Given the description of an element on the screen output the (x, y) to click on. 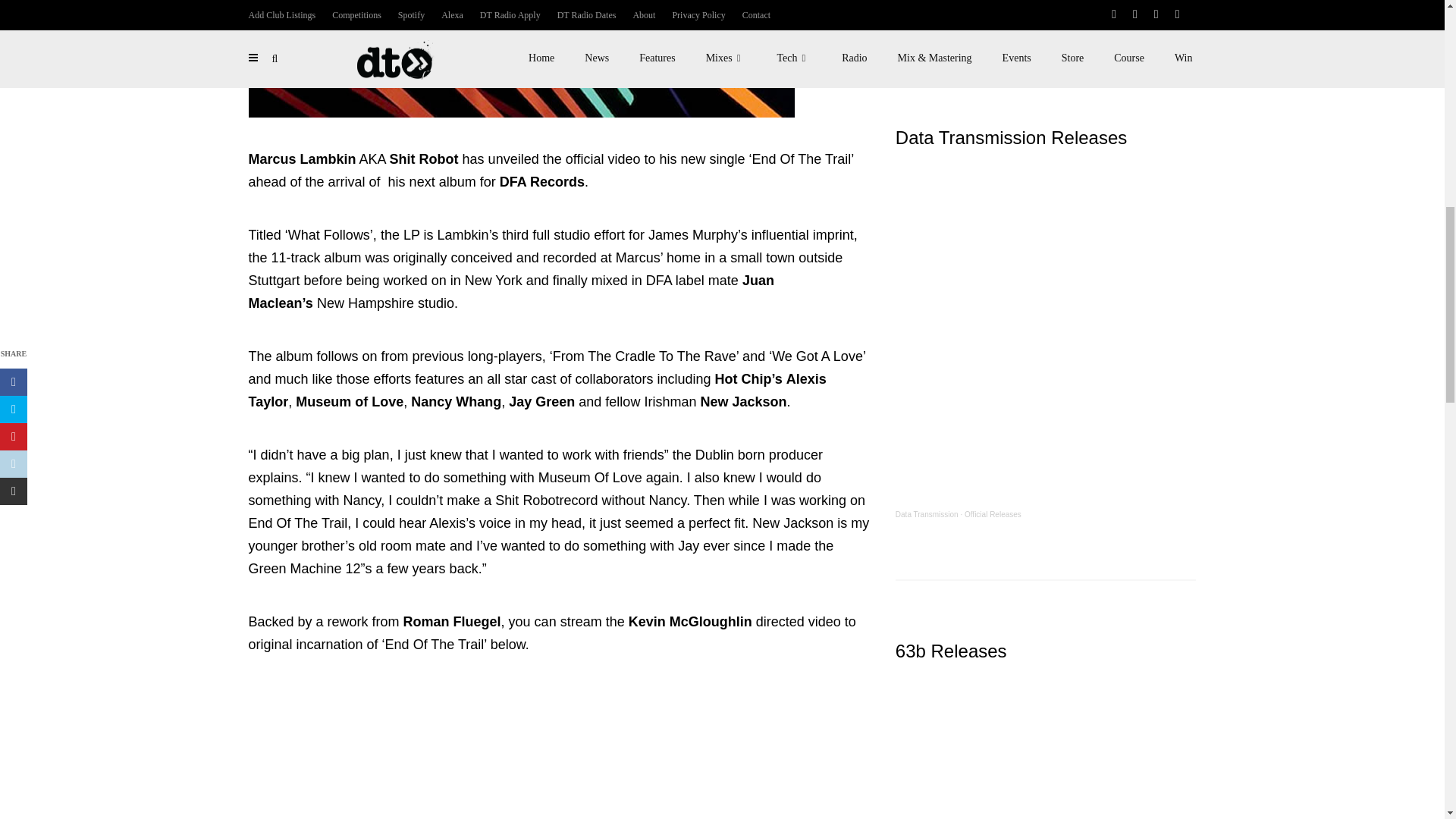
Official Releases (992, 514)
Data Transmission (926, 514)
End of the Trail - Shit Robot Ft.Alexis Taylor (560, 752)
